Given the description of an element on the screen output the (x, y) to click on. 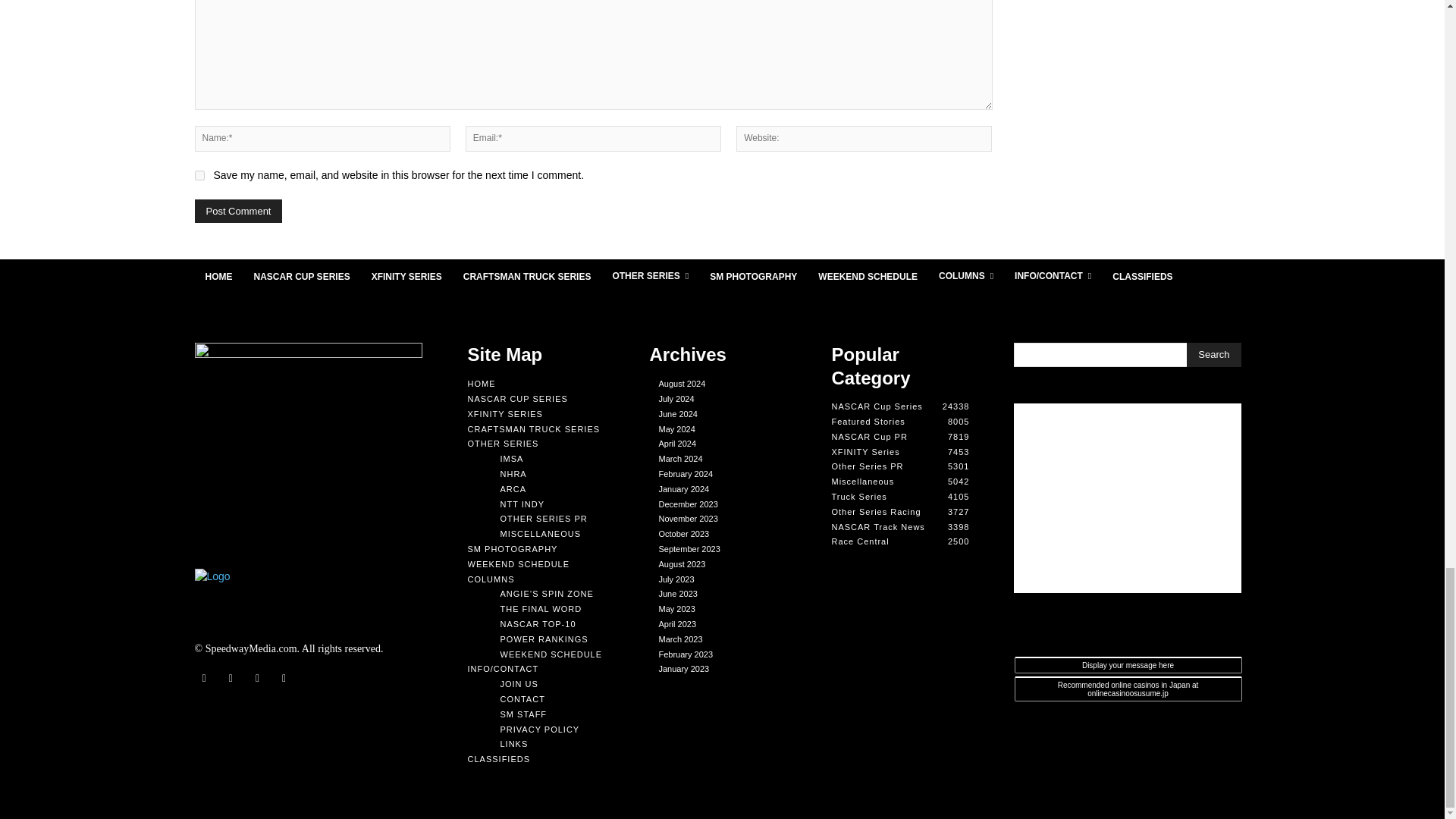
Post Comment (237, 210)
yes (198, 175)
